Given the description of an element on the screen output the (x, y) to click on. 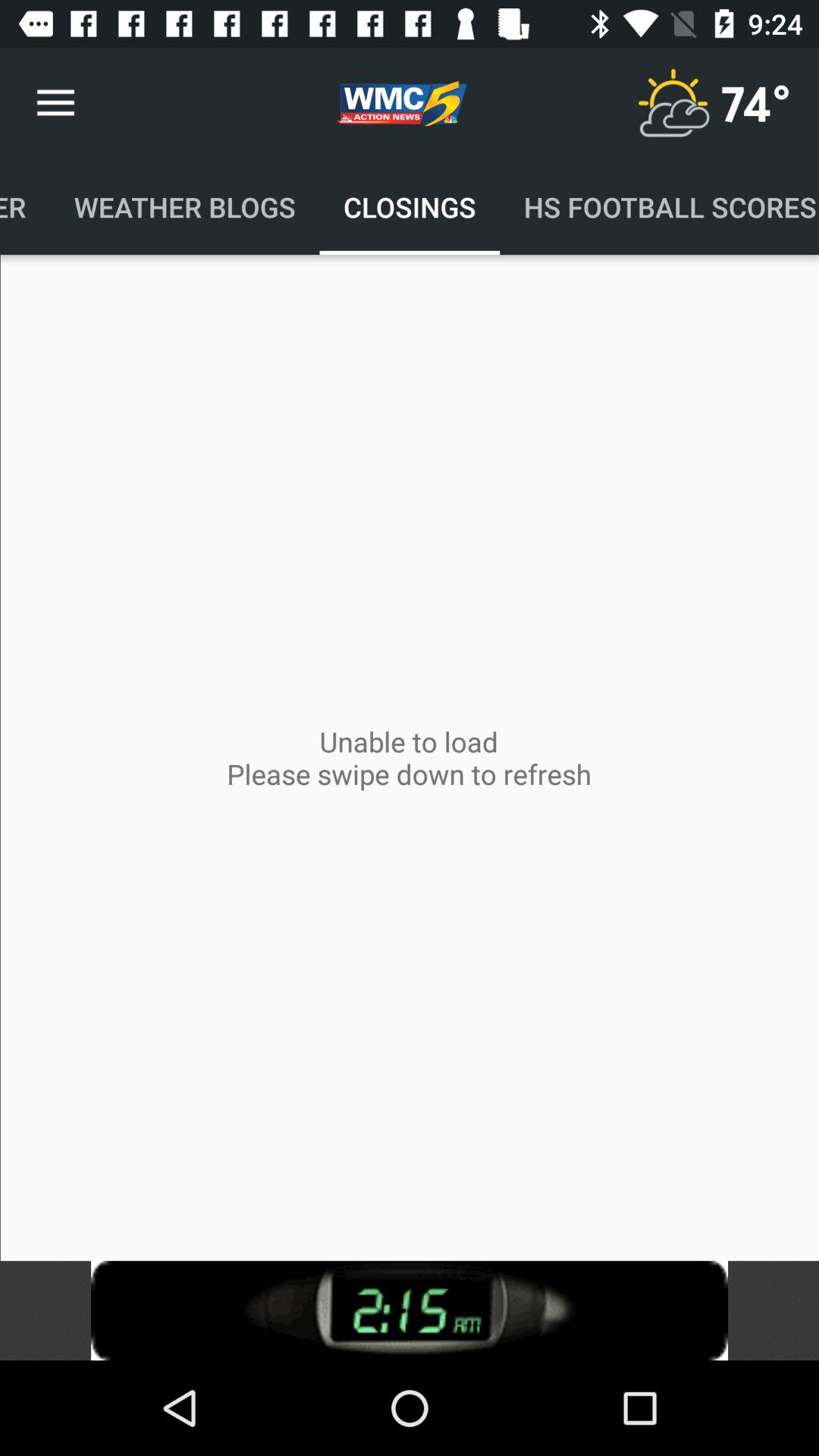
goes to advertiser 's website (409, 1310)
